Given the description of an element on the screen output the (x, y) to click on. 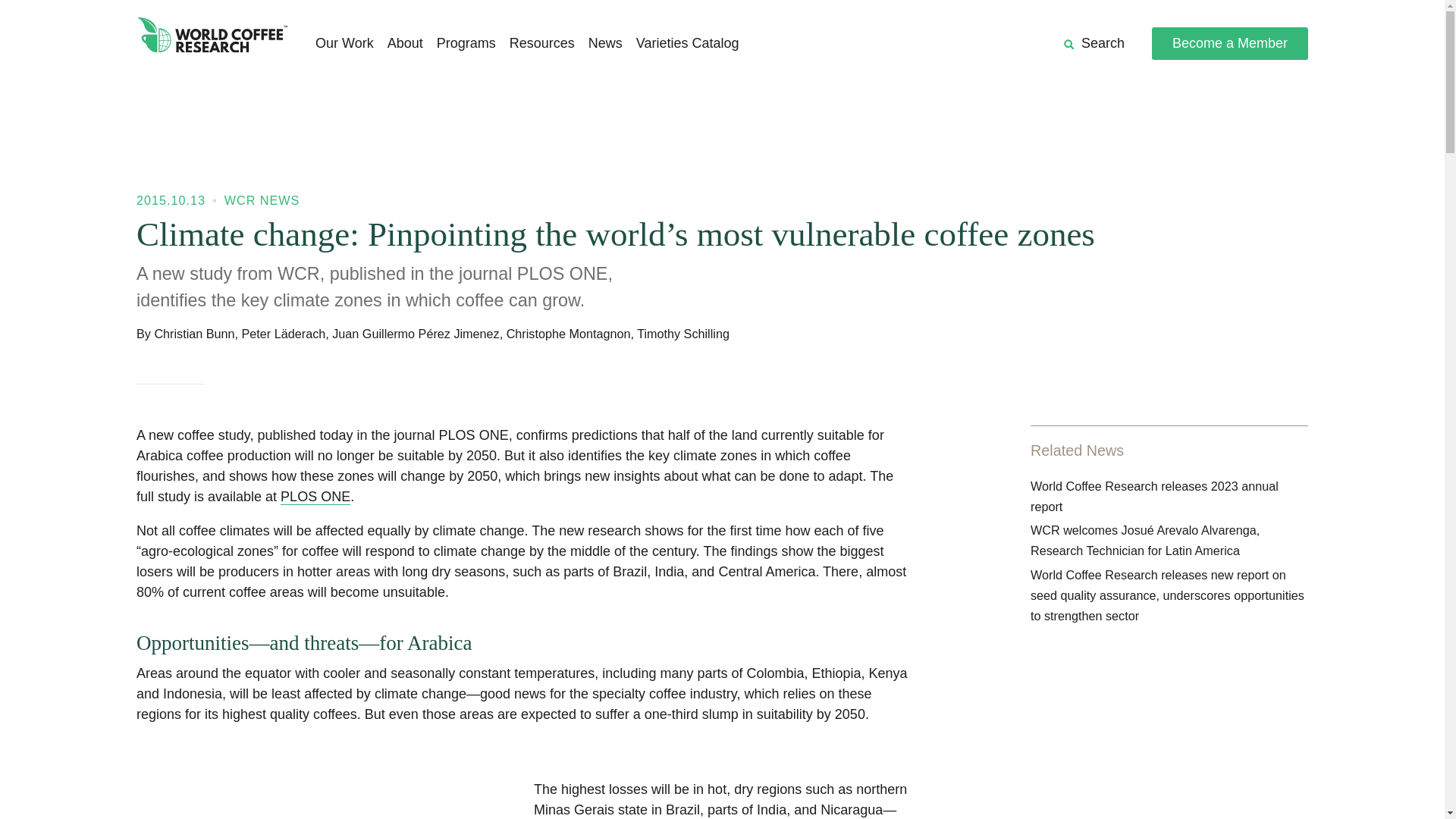
News (605, 43)
Become a Member (1229, 43)
Resources (542, 43)
World Coffee Research releases 2023 annual report (1154, 496)
Search (1094, 43)
Varieties Catalog (687, 43)
Our Work (344, 43)
PLOS ONE (315, 496)
Programs (466, 43)
